Given the description of an element on the screen output the (x, y) to click on. 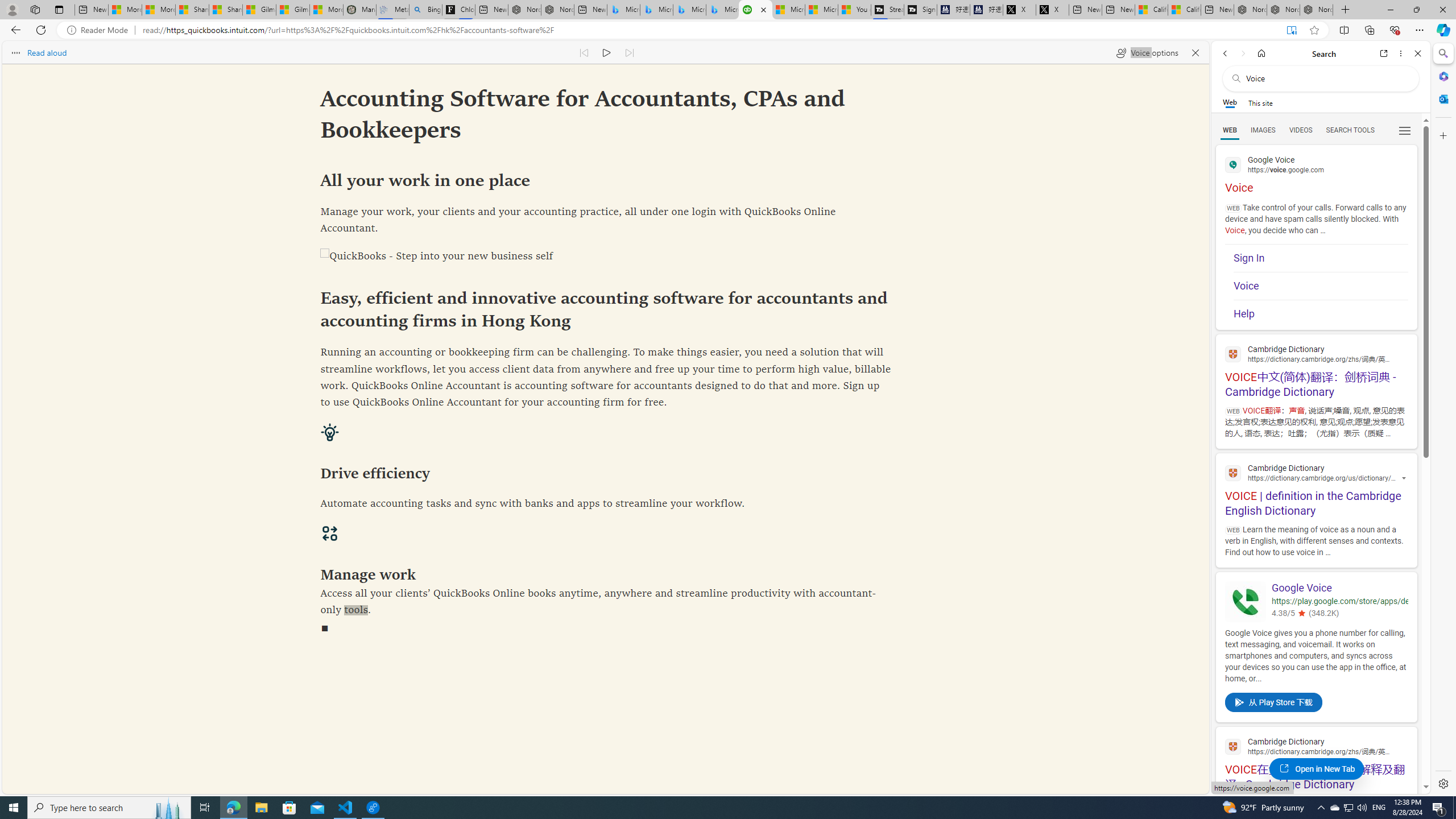
Microsoft 365 (1442, 76)
Search Filter, IMAGES (1262, 129)
Settings (1442, 783)
Search Filter, VIDEOS (1300, 129)
WEB   (1230, 130)
